Given the description of an element on the screen output the (x, y) to click on. 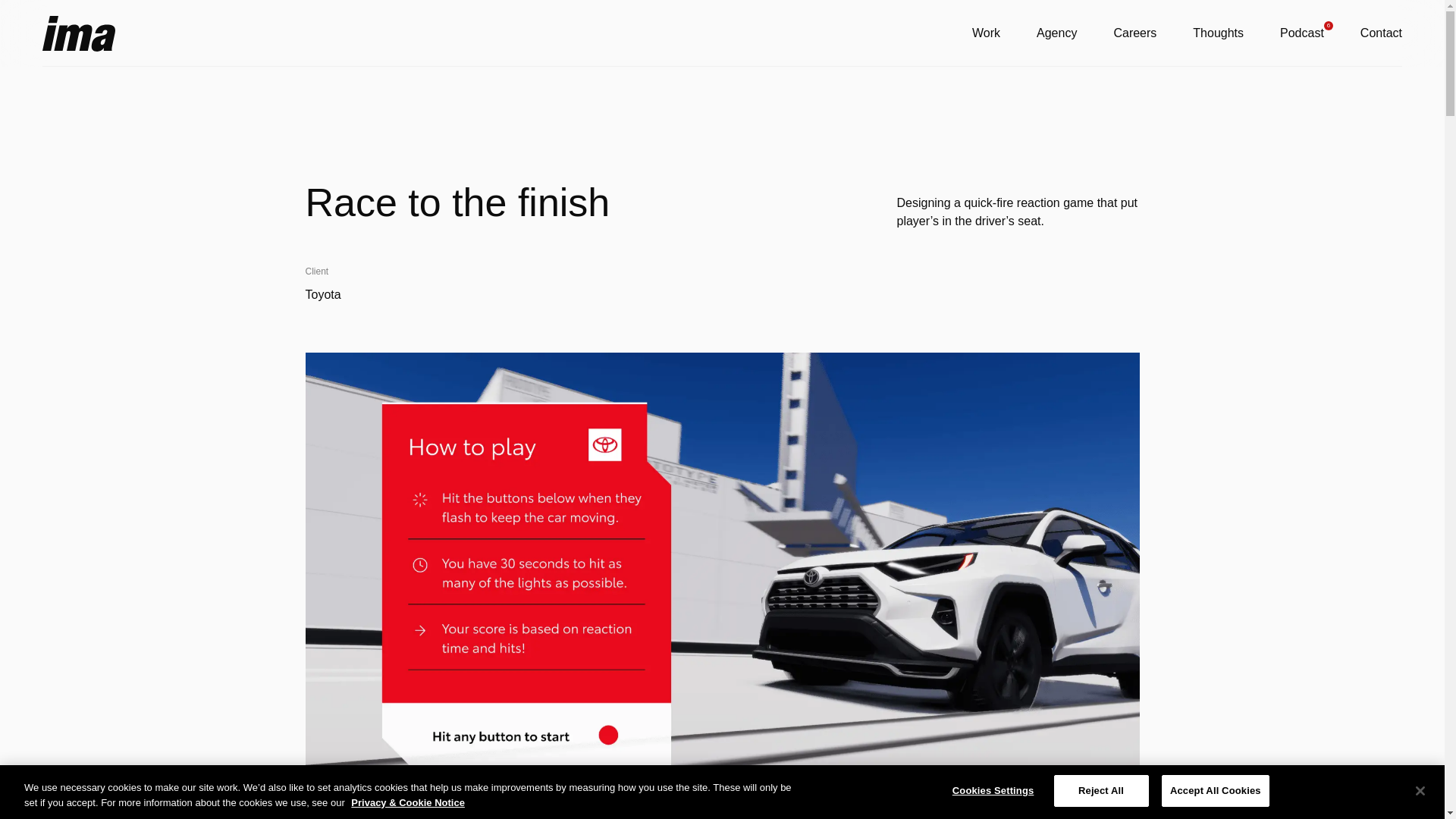
IMA (78, 32)
Cookies Settings (992, 790)
